Given the description of an element on the screen output the (x, y) to click on. 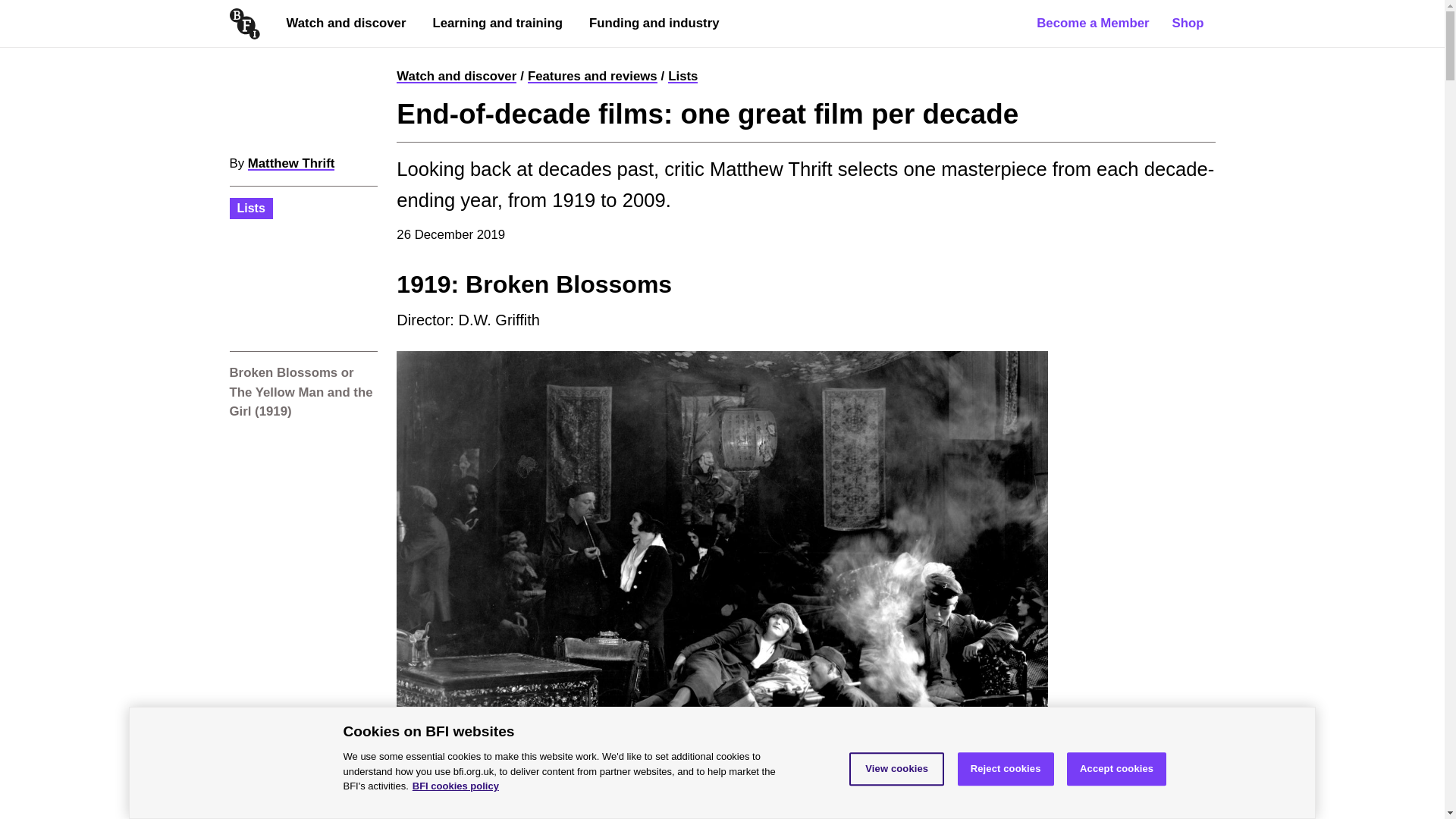
Open submenu (598, 54)
Skip to content (18, 7)
Watch and discover (456, 75)
Matthew Thrift (290, 163)
Learning and training (496, 23)
Open submenu (441, 54)
Become a Member (1092, 22)
Lists (249, 207)
Funding and industry (654, 23)
Open submenu (295, 54)
